Given the description of an element on the screen output the (x, y) to click on. 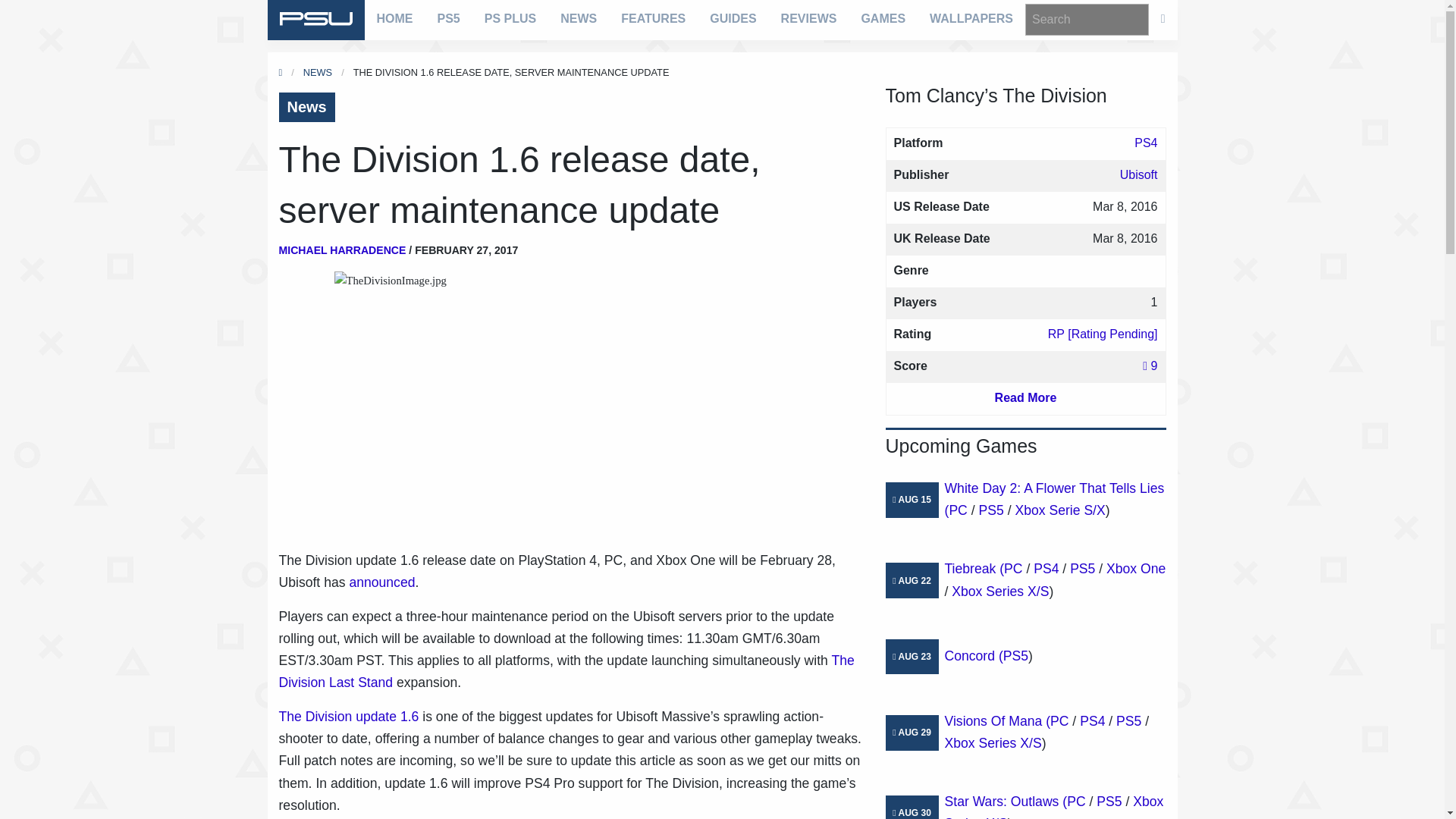
The Division update 1.6 (349, 716)
FEATURES (652, 18)
News (306, 107)
GUIDES (732, 18)
GAMES (882, 18)
NEWS (316, 71)
The Division Last Stand (566, 671)
NEWS (578, 18)
MICHAEL HARRADENCE (342, 250)
announced (381, 581)
